Given the description of an element on the screen output the (x, y) to click on. 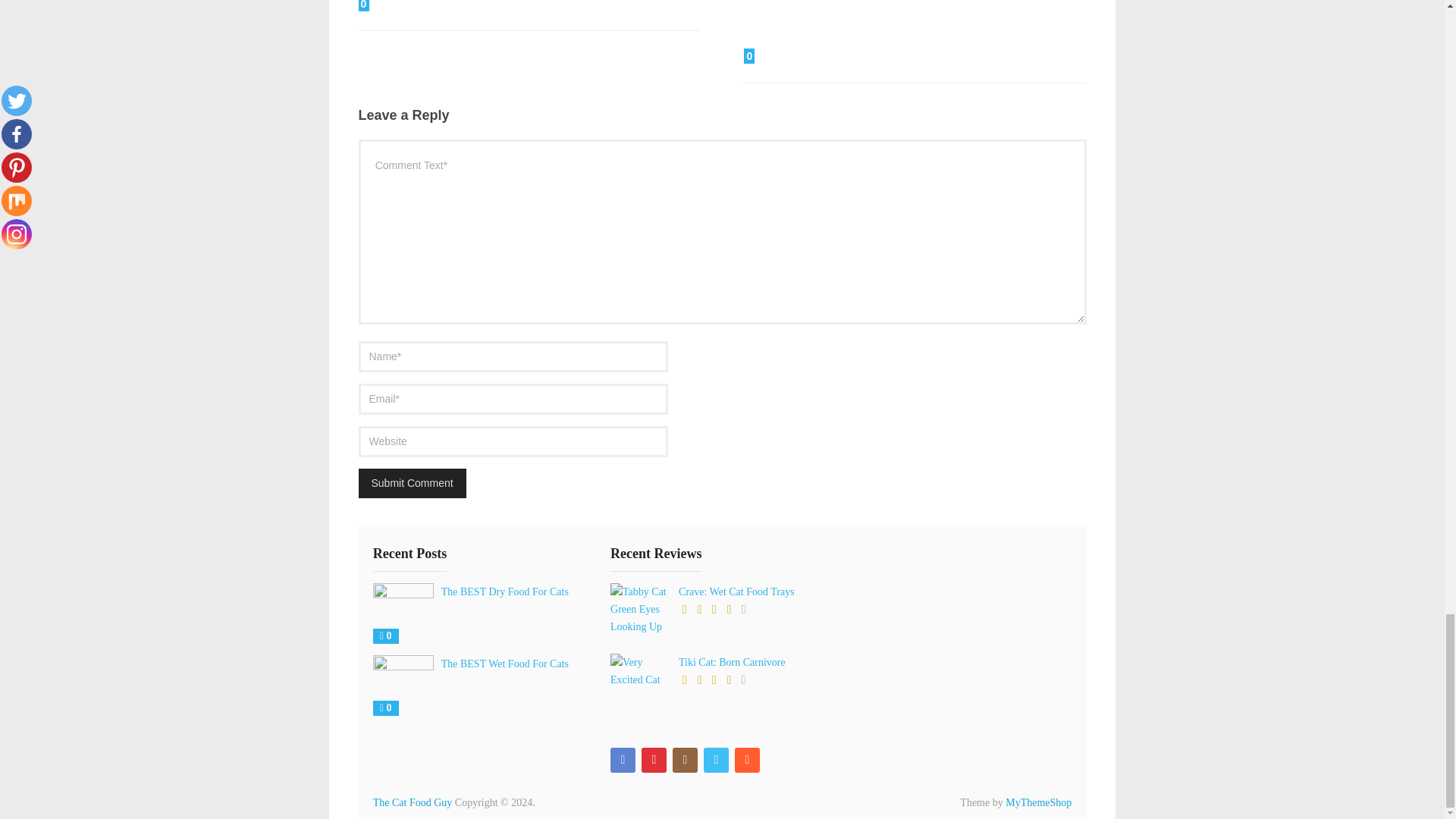
0 (411, 5)
Submit Comment (411, 482)
Merrick: Before Grain (411, 5)
